Given the description of an element on the screen output the (x, y) to click on. 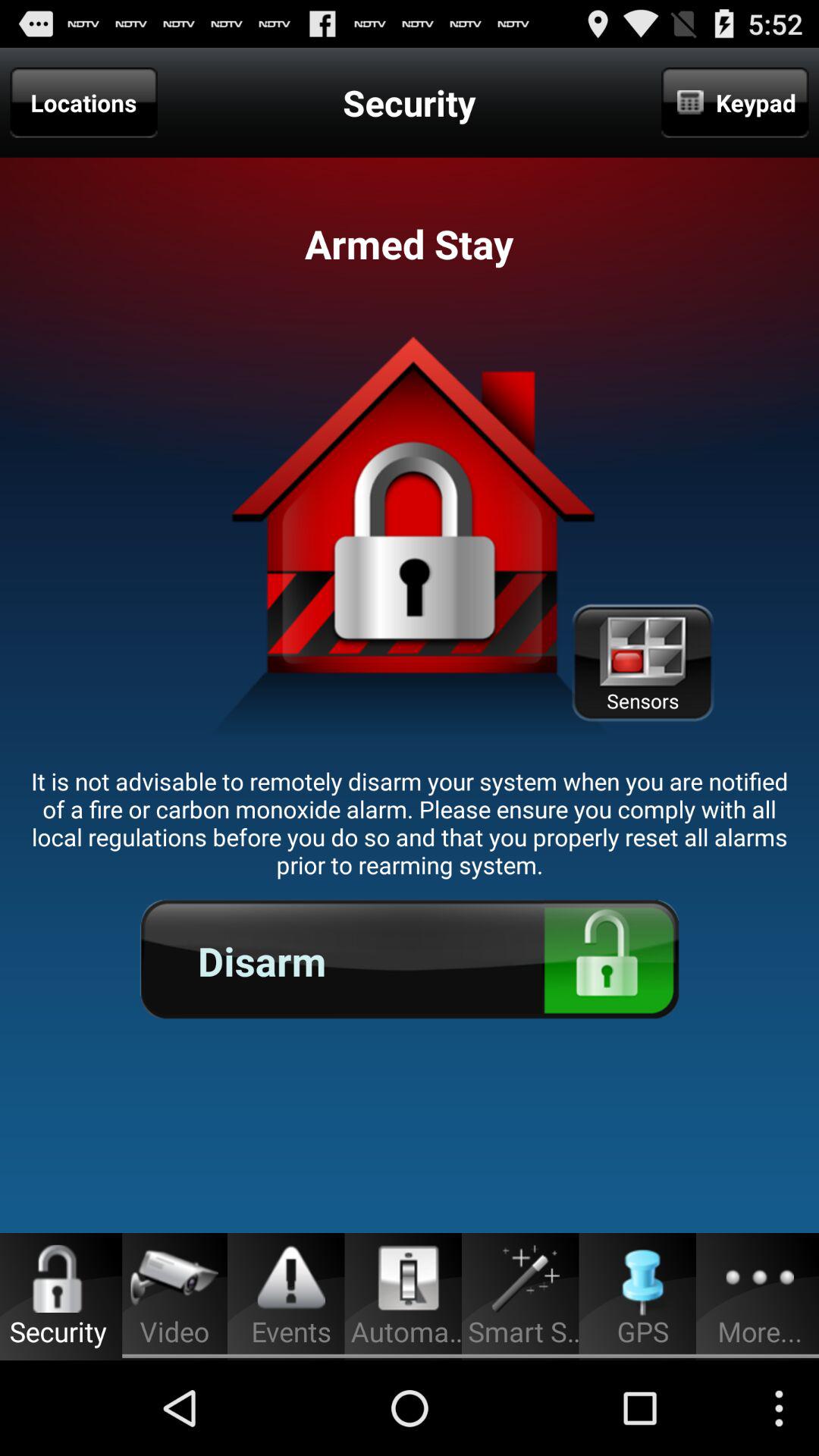
tap sensors button (642, 662)
